Given the description of an element on the screen output the (x, y) to click on. 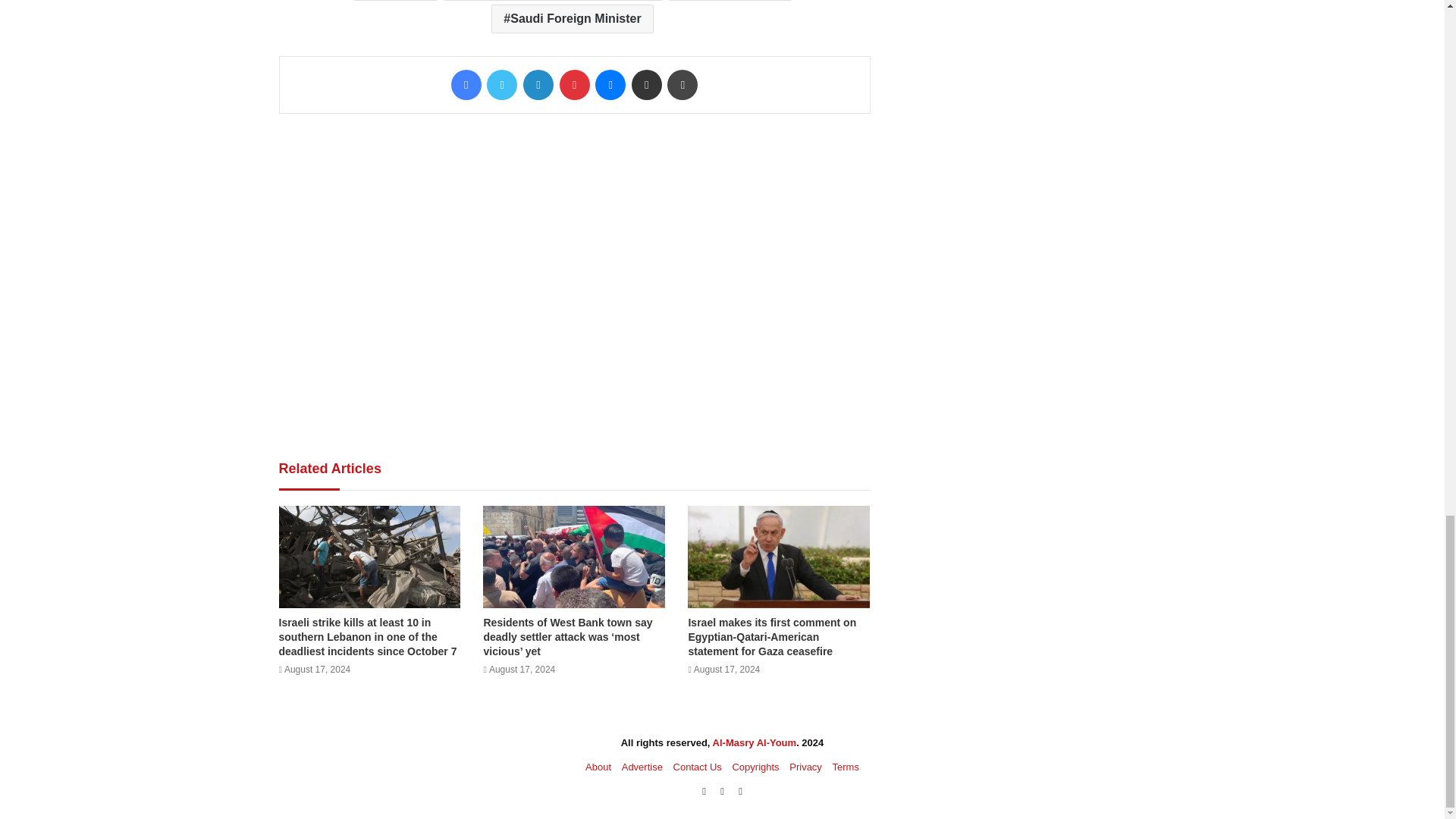
Facebook (466, 84)
LinkedIn (537, 84)
Share via Email (646, 84)
Pinterest (574, 84)
LinkedIn (537, 84)
Twitter (501, 84)
Saudi Foreign Minister (572, 18)
